Given the description of an element on the screen output the (x, y) to click on. 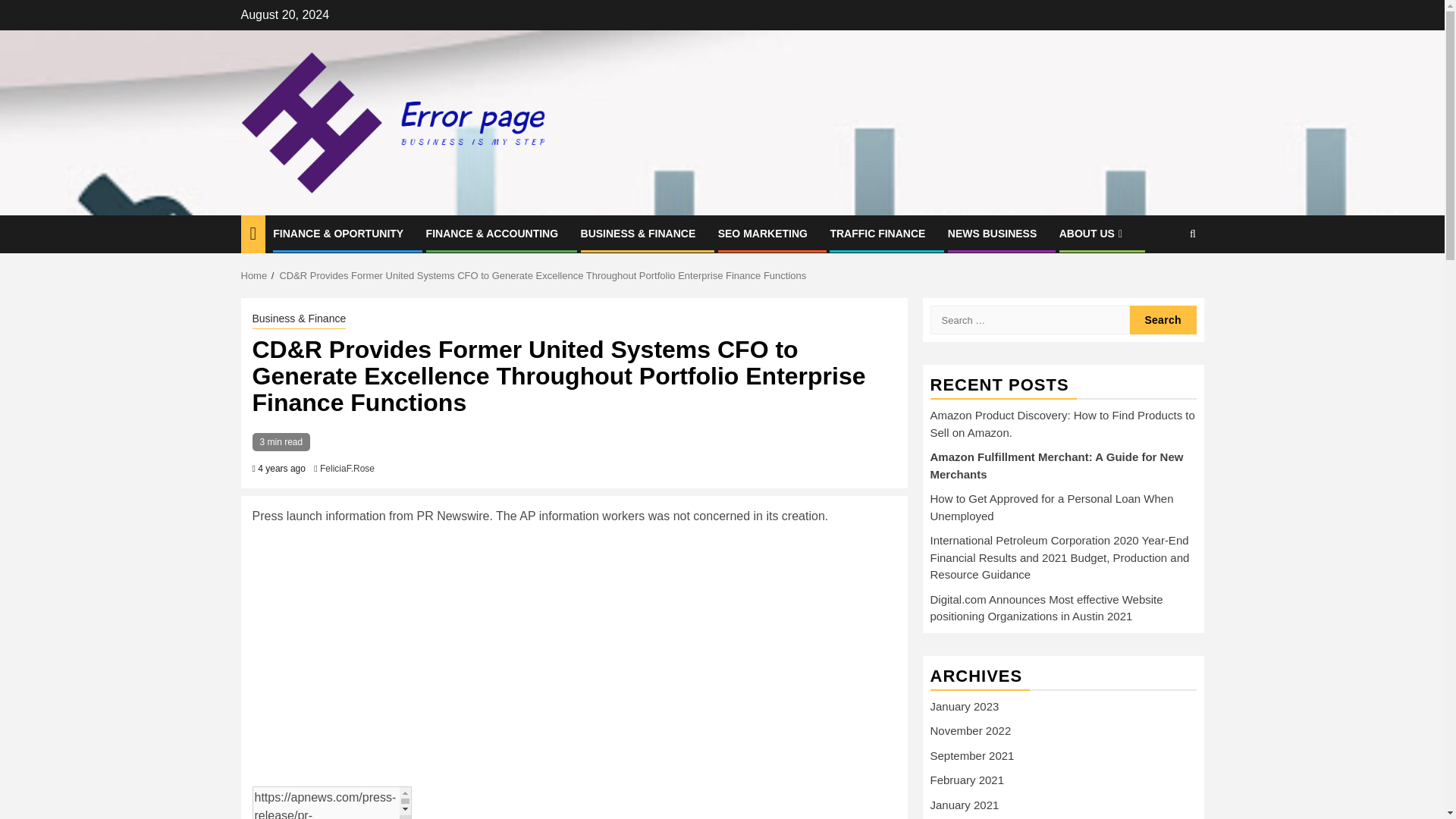
ABOUT US (1092, 233)
SEO MARKETING (762, 233)
Search (1162, 319)
FeliciaF.Rose (347, 468)
Search (1163, 280)
TRAFFIC FINANCE (876, 233)
Search (1162, 319)
Home (254, 275)
NEWS BUSINESS (991, 233)
